Given the description of an element on the screen output the (x, y) to click on. 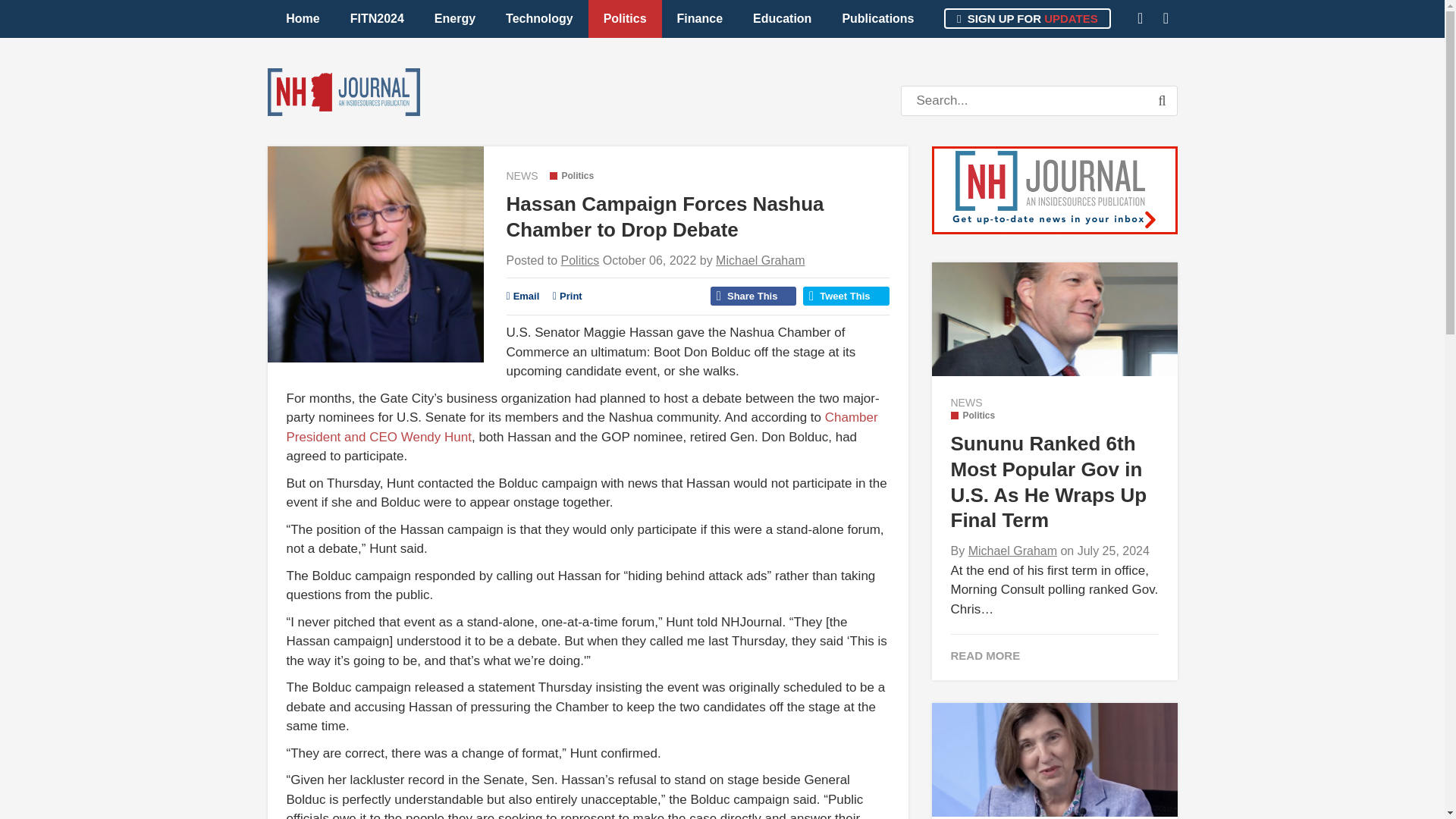
Chamber President and CEO Wendy Hunt (581, 427)
Share This (753, 295)
Education (782, 18)
Politics (625, 18)
Publications (877, 18)
Politics (579, 259)
View all posts in Politics (571, 175)
Technology (539, 18)
Email (523, 296)
Posts by Michael Graham (760, 259)
Finance (700, 18)
Michael Graham (760, 259)
Politics (571, 175)
  SIGN UP FOR UPDATES (1026, 18)
FITN2024 (376, 18)
